Given the description of an element on the screen output the (x, y) to click on. 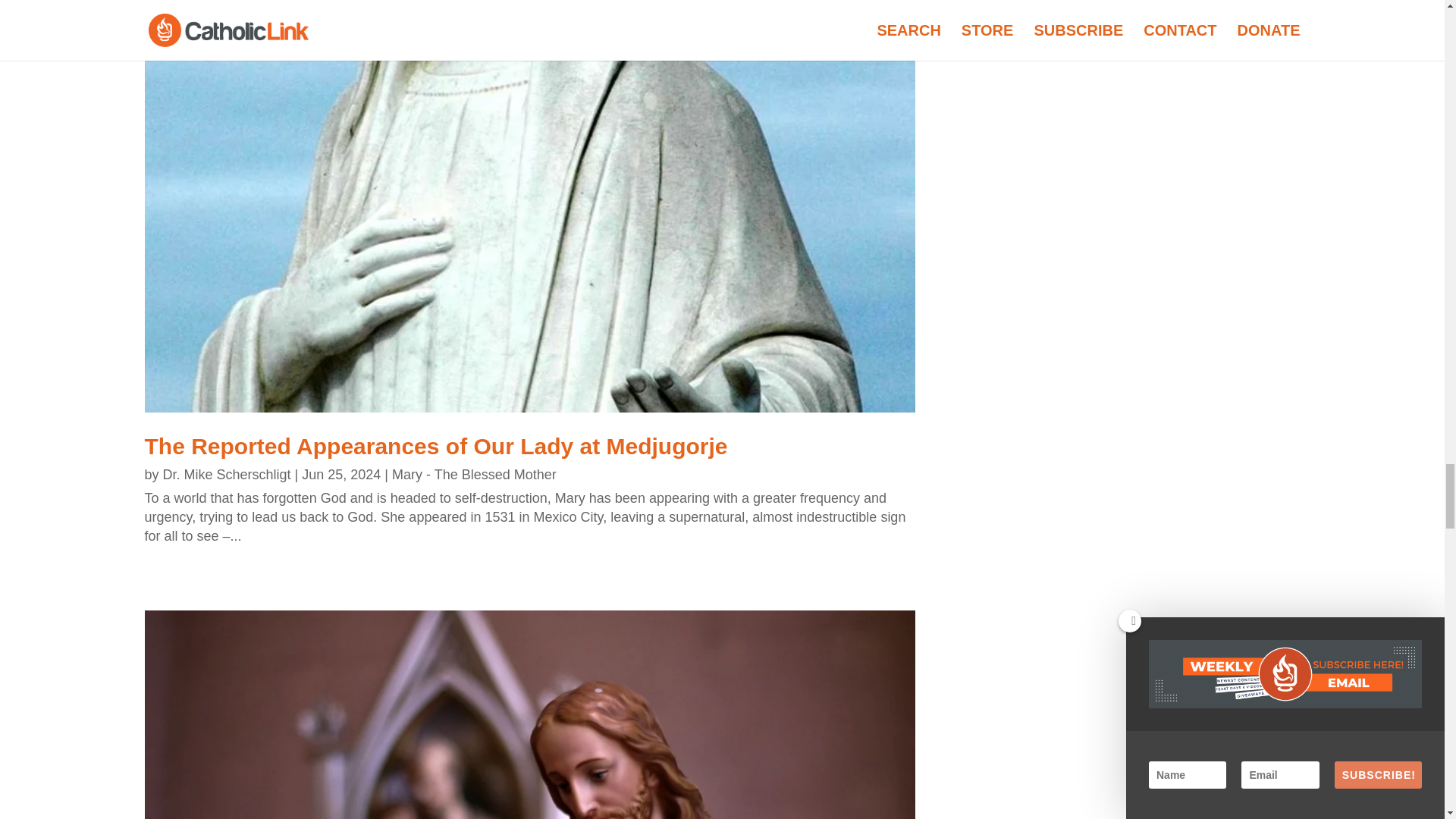
Posts by Dr. Mike Scherschligt (227, 474)
